Given the description of an element on the screen output the (x, y) to click on. 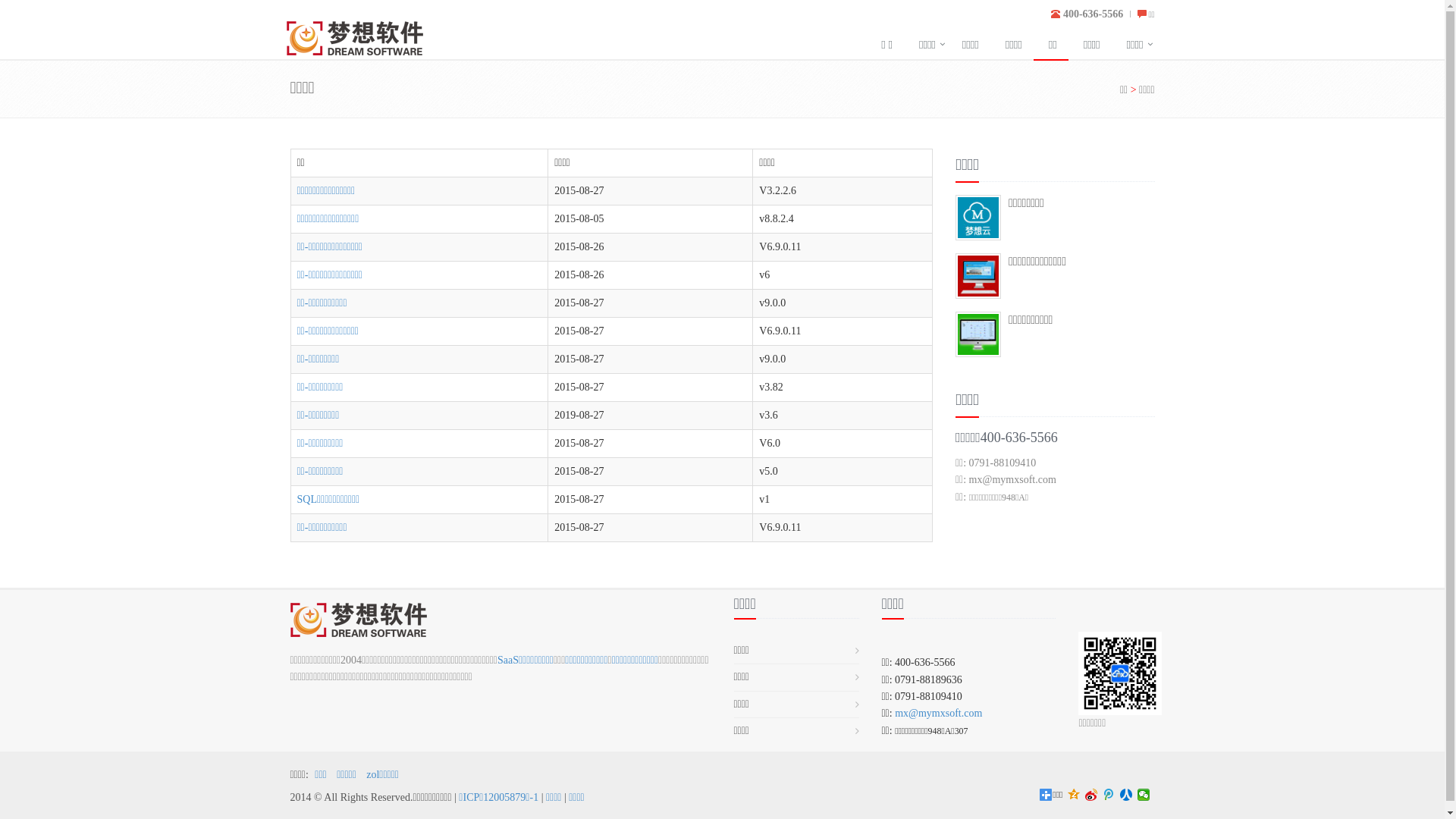
mx@mymxsoft.com Element type: text (938, 712)
